Given the description of an element on the screen output the (x, y) to click on. 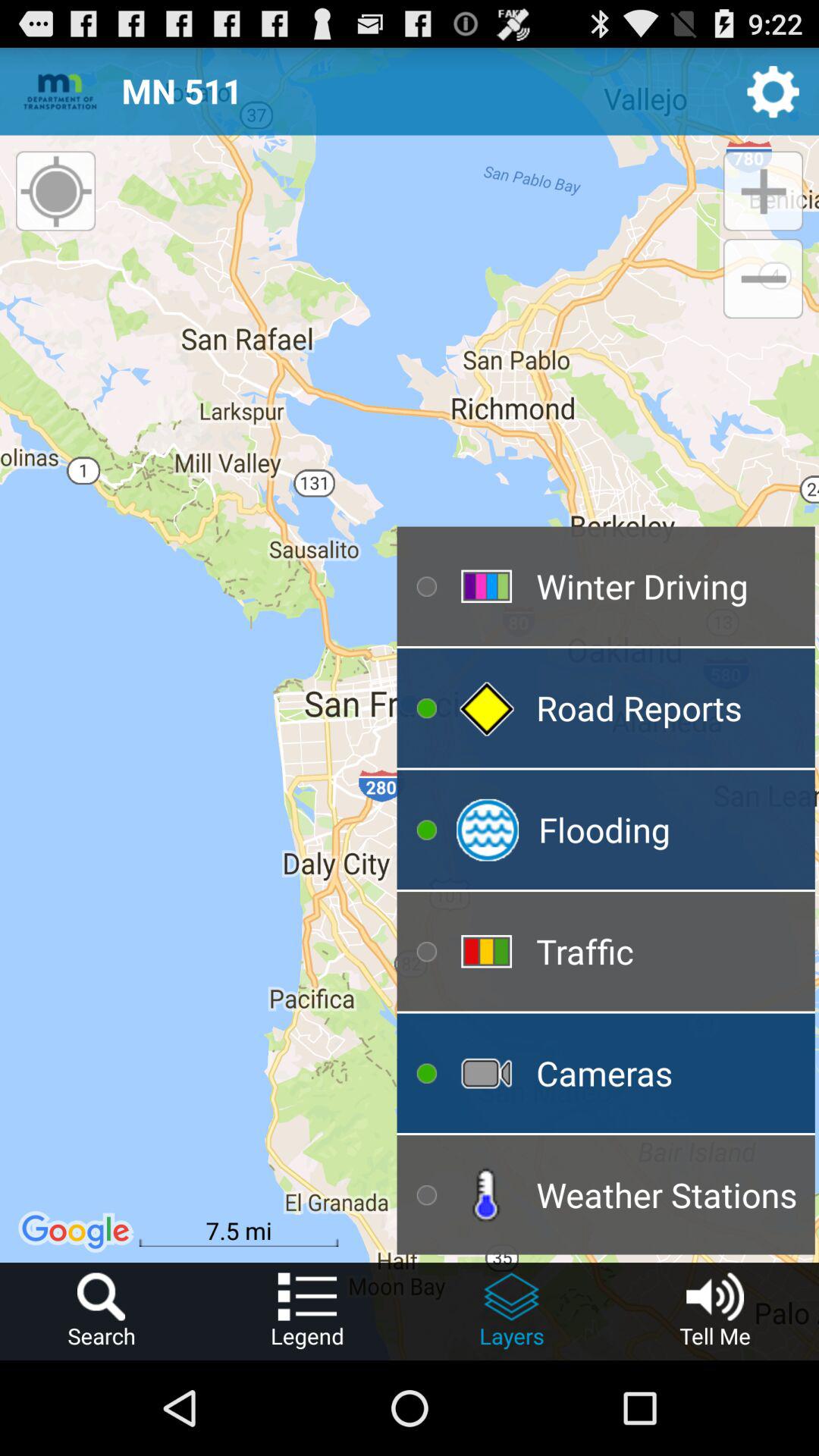
switch to settings (773, 91)
